Given the description of an element on the screen output the (x, y) to click on. 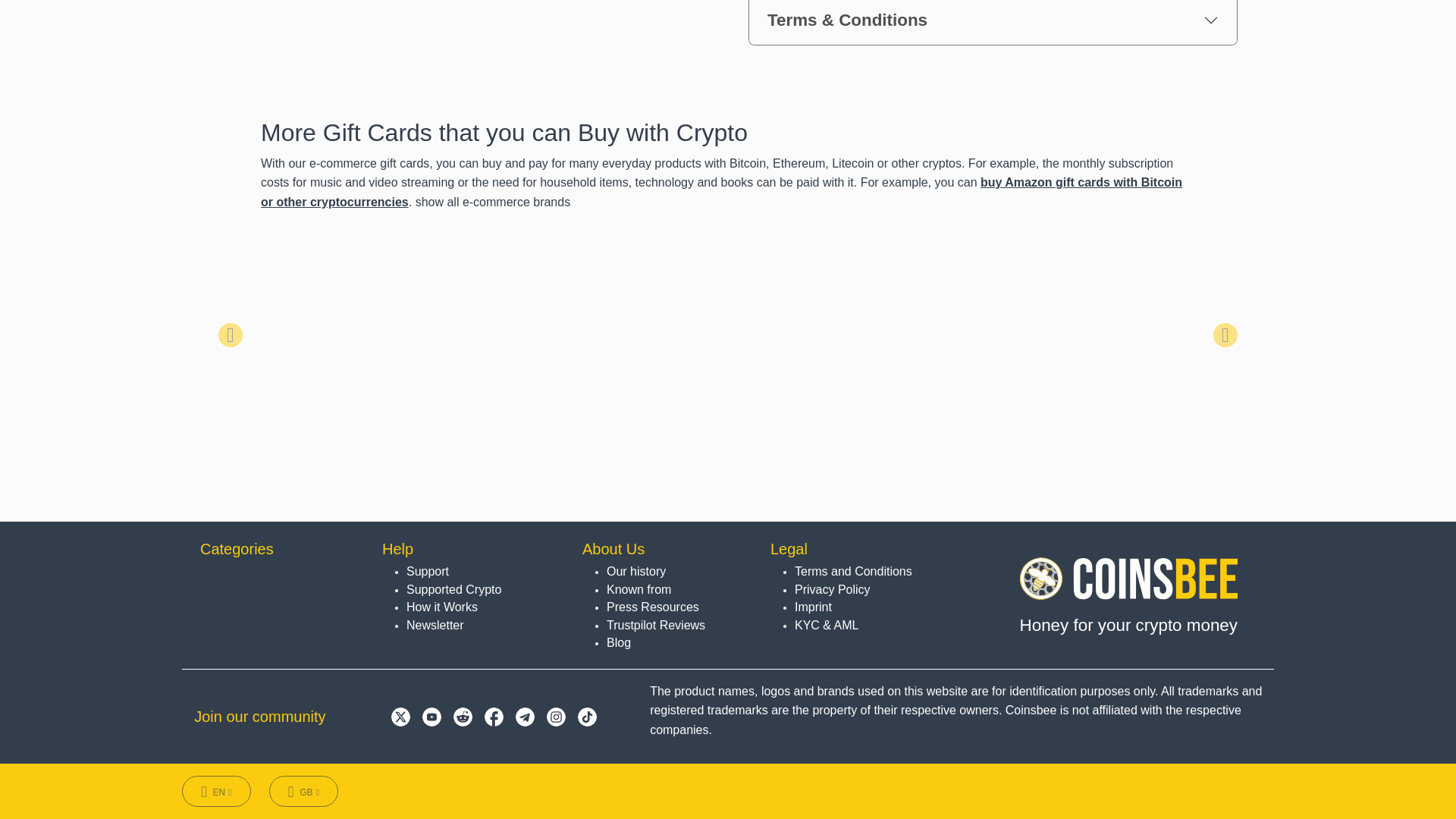
Show all gift cards (259, 716)
